Given the description of an element on the screen output the (x, y) to click on. 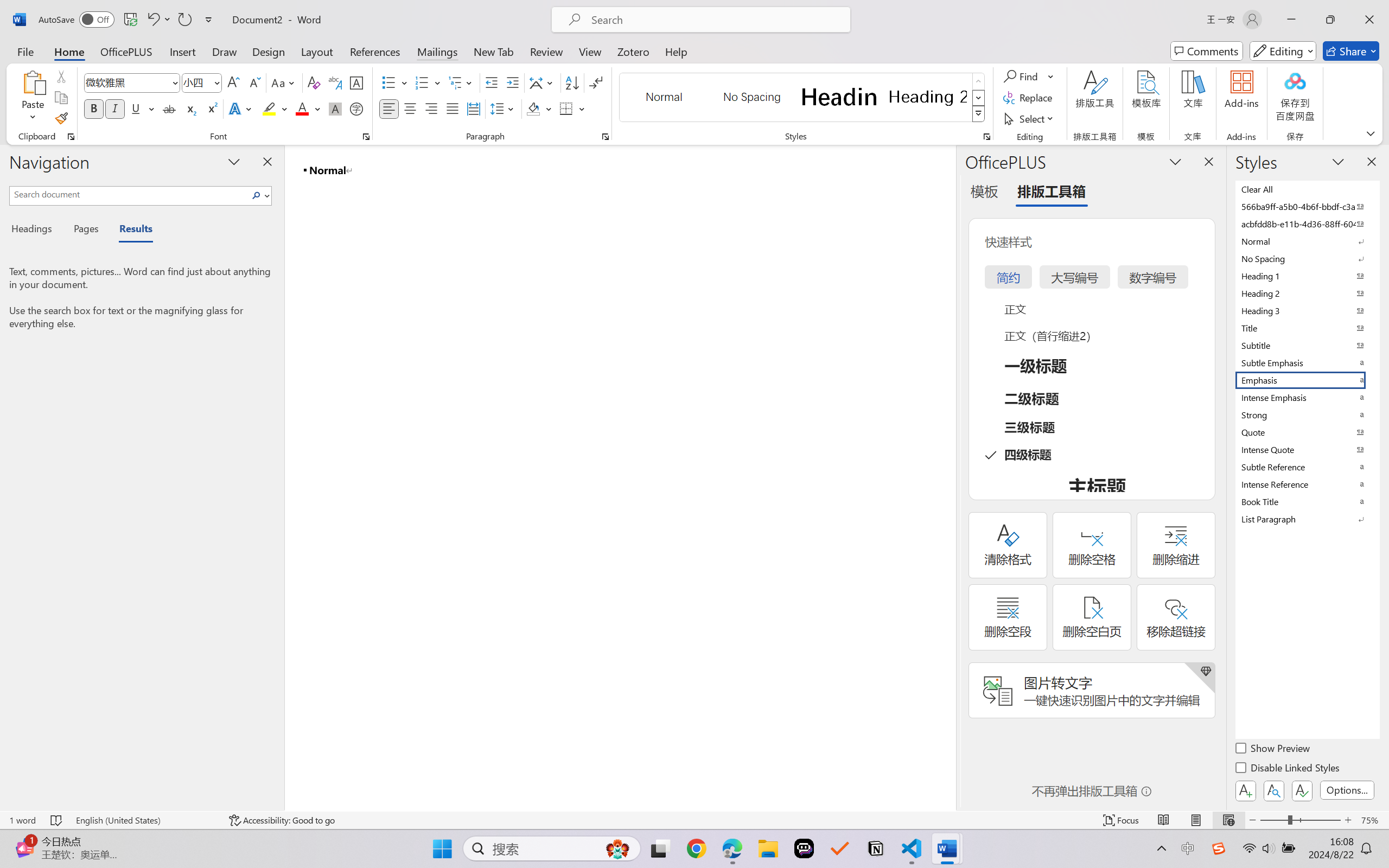
Undo Style (152, 19)
Home (69, 51)
Find (1022, 75)
Row up (978, 81)
Review (546, 51)
Zoom In (1348, 819)
Clear All (1306, 188)
Font Size (201, 82)
Format Painter (60, 118)
Subtitle (1306, 345)
Text Highlight Color Yellow (269, 108)
Intense Reference (1306, 484)
